Given the description of an element on the screen output the (x, y) to click on. 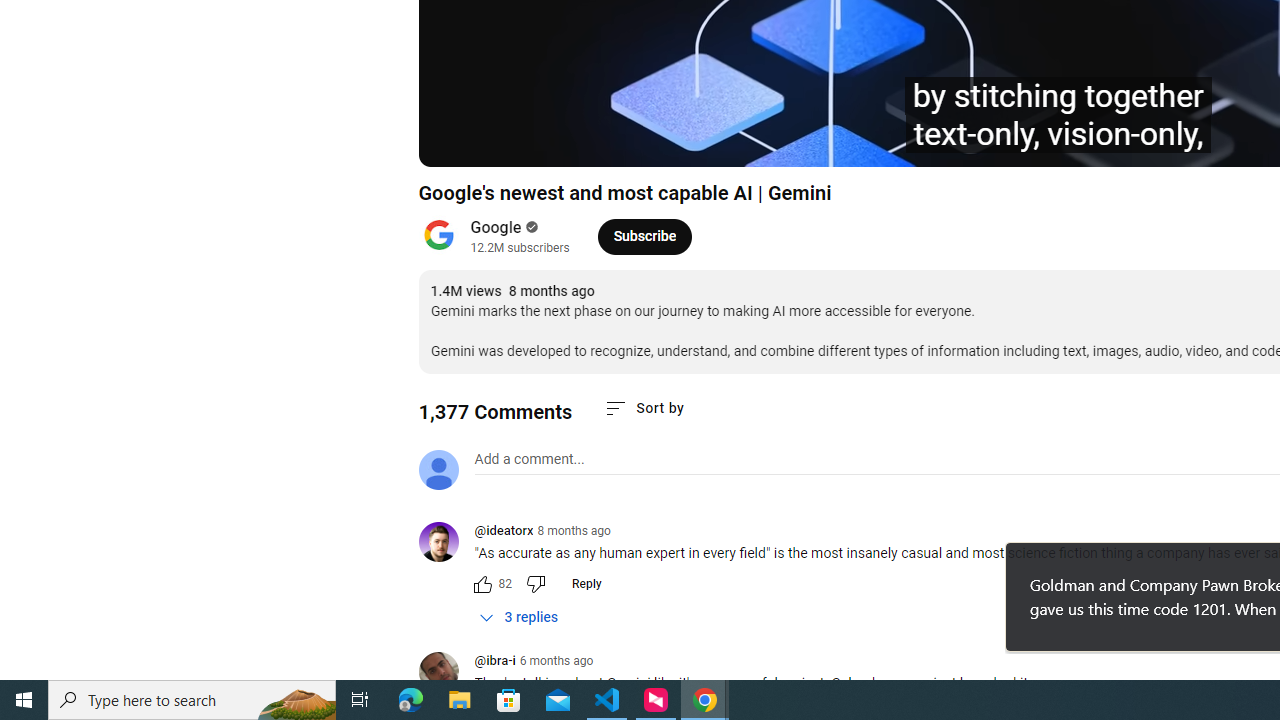
@ibra-i (446, 673)
Subscribe to Google. (644, 236)
3 replies (518, 617)
Next (SHIFT+n) (500, 142)
AutomationID: simplebox-placeholder (528, 459)
